Given the description of an element on the screen output the (x, y) to click on. 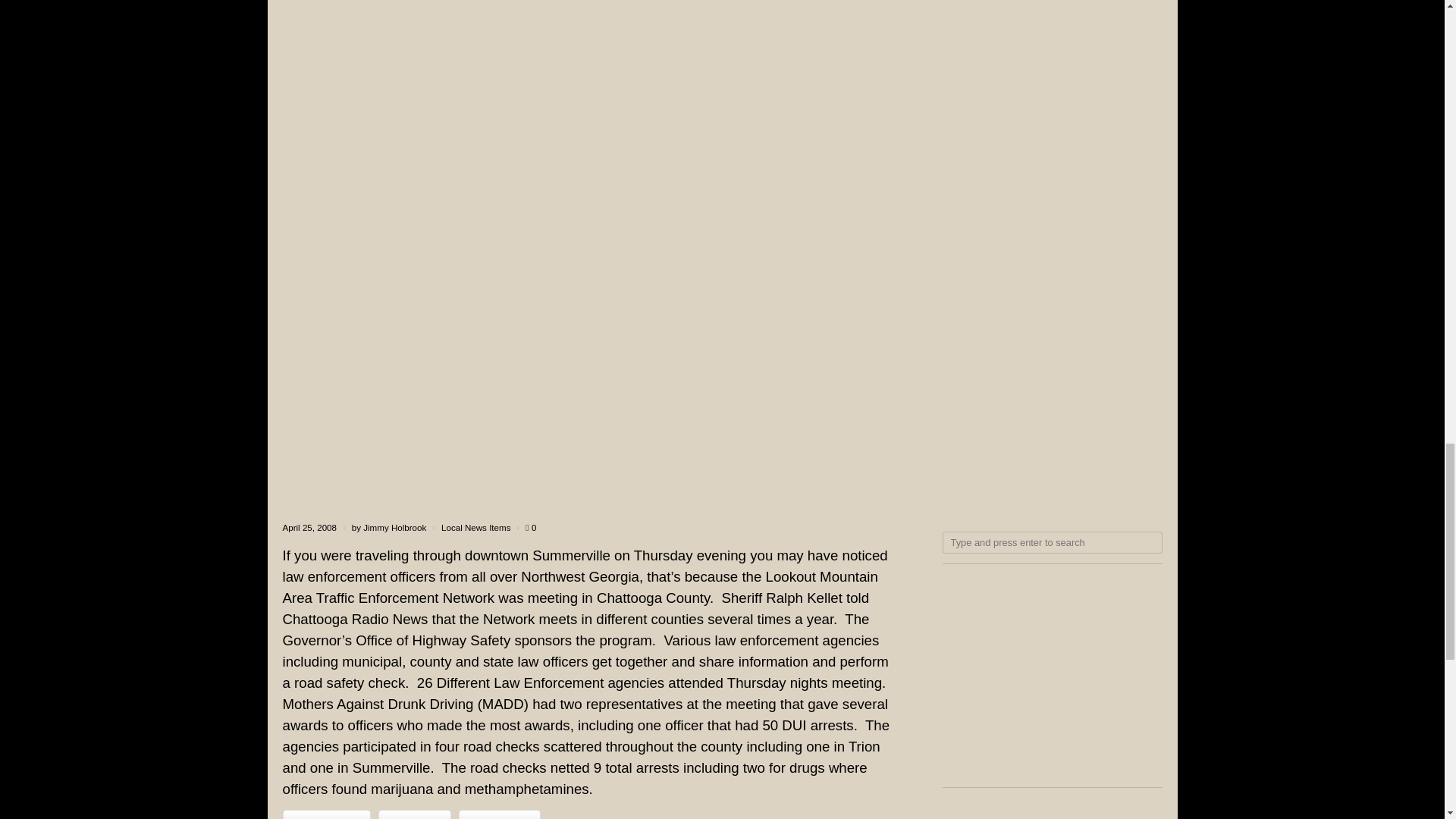
Facebook (325, 814)
Jimmy Holbrook (394, 527)
Local News Items (476, 527)
Twitter (414, 814)
0 (530, 527)
LinkedIn (499, 814)
Posts by Jimmy Holbrook (394, 527)
